Given the description of an element on the screen output the (x, y) to click on. 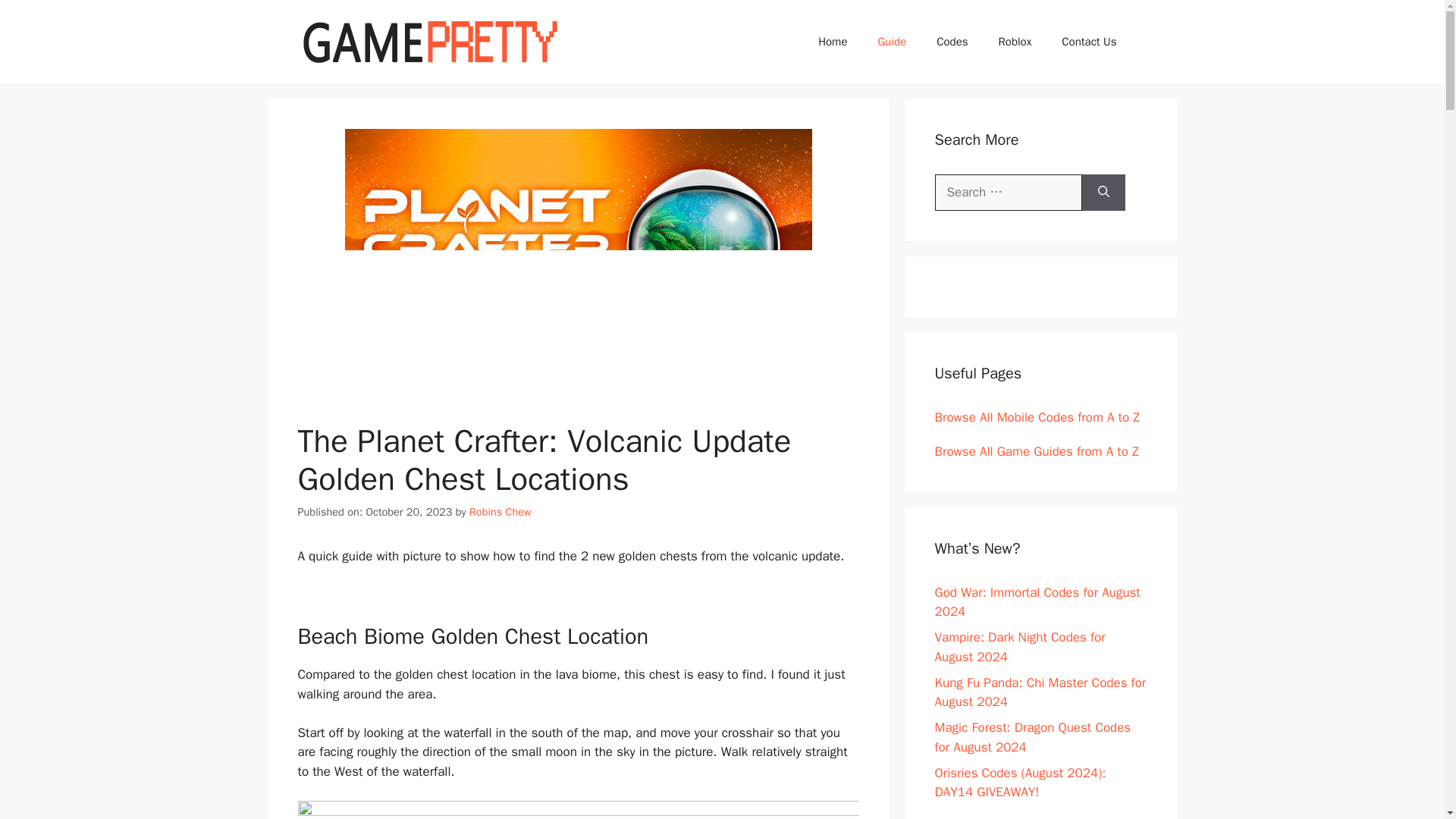
View all posts by Robins Chew (499, 511)
Guide (891, 41)
God War: Immortal Codes for August 2024 (1037, 601)
Browse All Mobile Codes from A to Z (1037, 417)
Roblox (1015, 41)
Codes (951, 41)
Contact Us (1088, 41)
Browse All Game Guides from A to Z (1036, 451)
Robins Chew (499, 511)
Kung Fu Panda: Chi Master Codes for August 2024 (1039, 692)
